Given the description of an element on the screen output the (x, y) to click on. 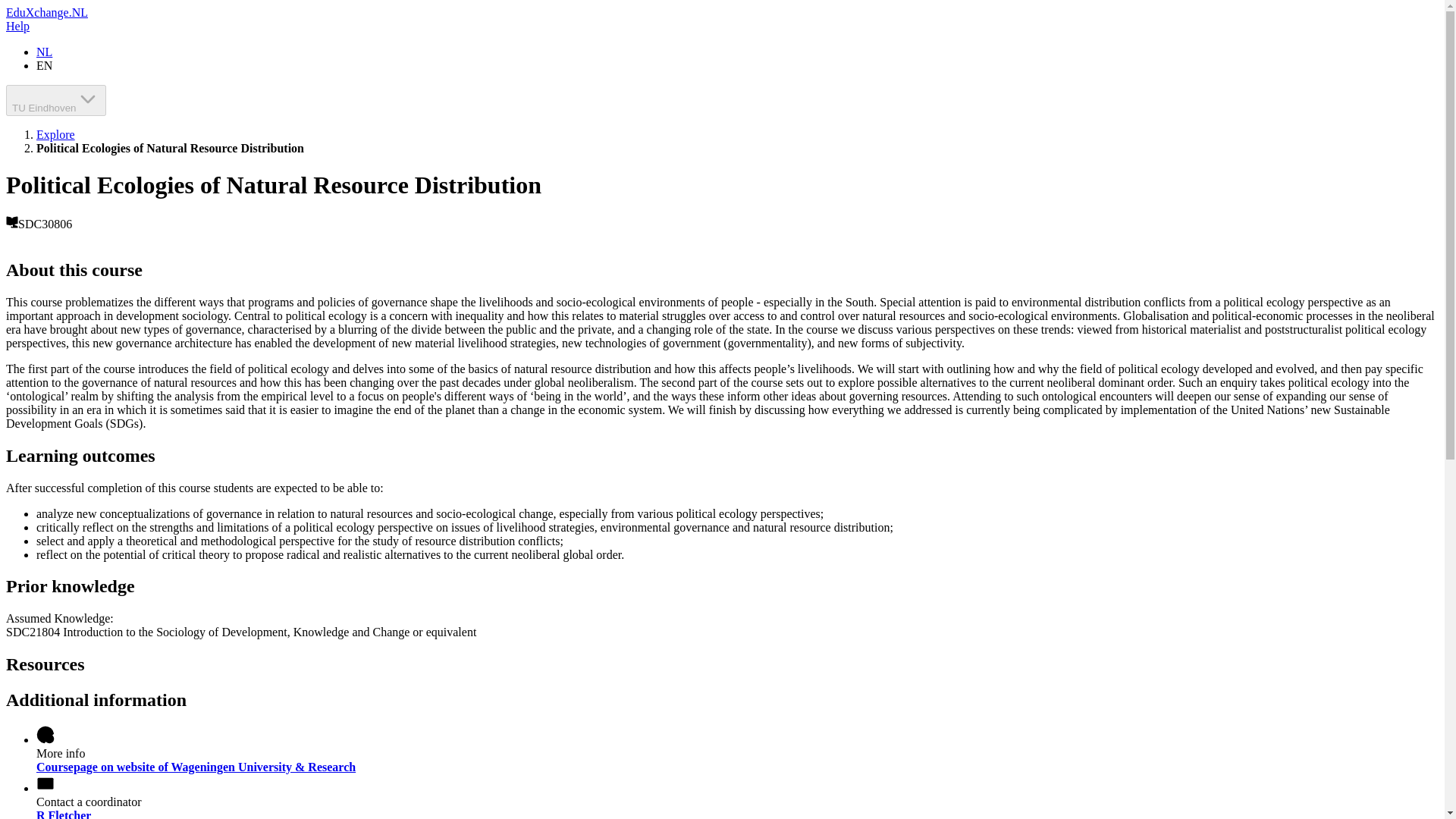
EduXchange.NL (46, 11)
Help (17, 25)
Explore (55, 133)
TU Eindhoven (55, 100)
R Fletcher (63, 814)
NL (44, 51)
